Given the description of an element on the screen output the (x, y) to click on. 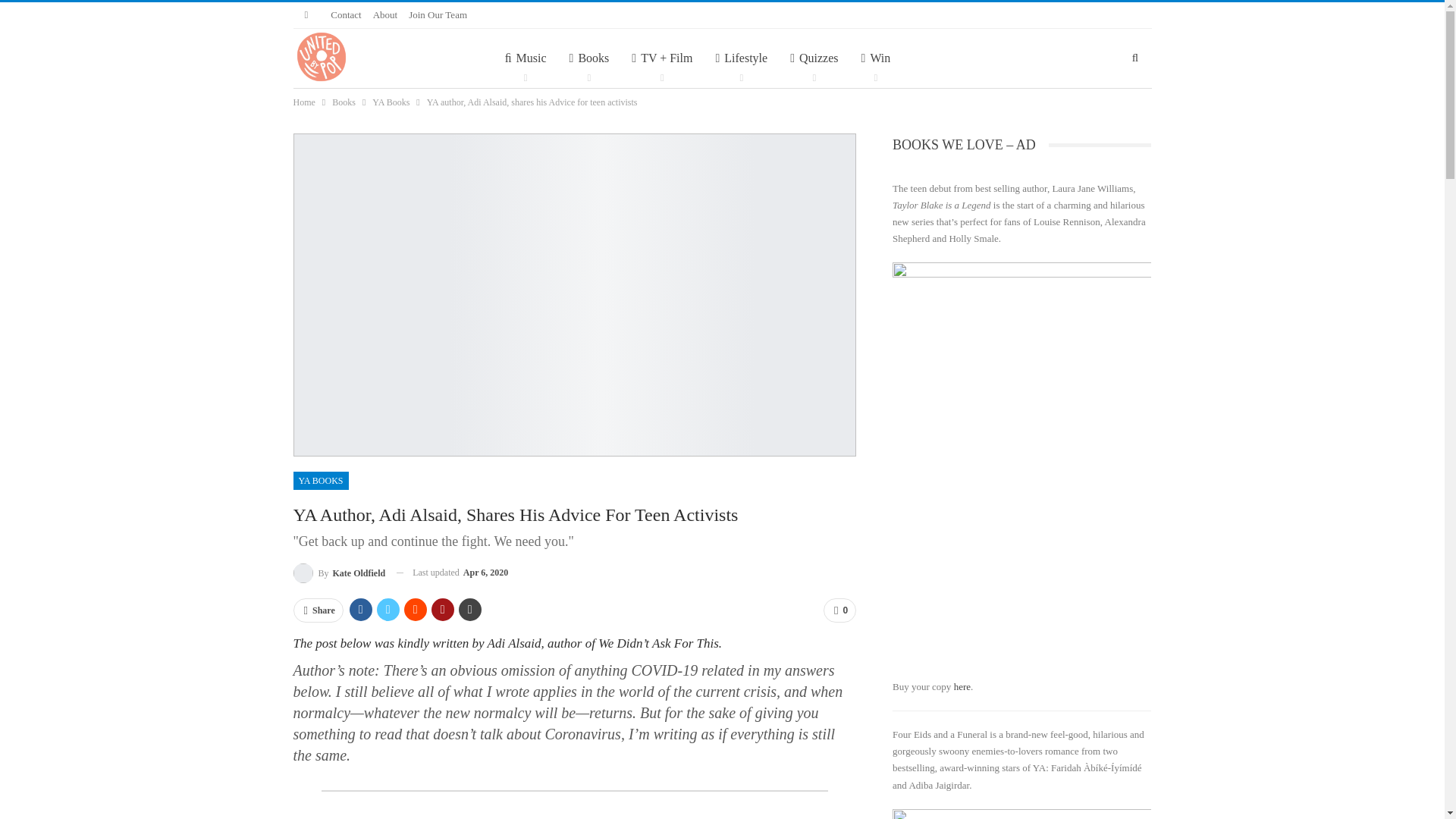
Join Our Team (438, 14)
Contact (345, 14)
Music (525, 57)
Music (525, 57)
About (384, 14)
Books (589, 57)
